Given the description of an element on the screen output the (x, y) to click on. 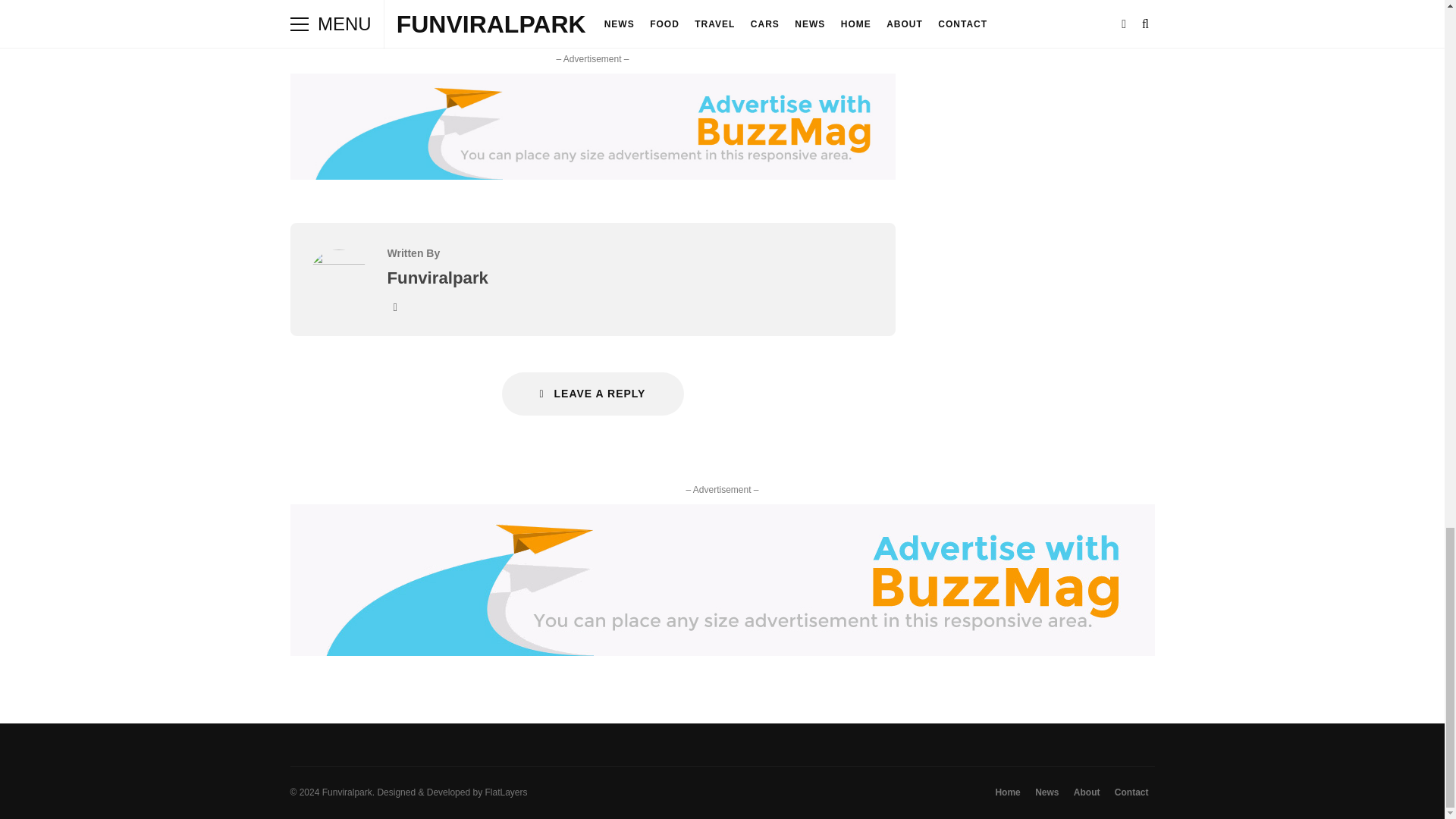
About (1086, 792)
Posts by Funviralpark (437, 277)
LEAVE A REPLY (593, 393)
Funviralpark (437, 277)
Home (1007, 792)
Funviralpark (337, 259)
Contact (1131, 792)
News (1046, 792)
FlatLayers (505, 792)
